Given the description of an element on the screen output the (x, y) to click on. 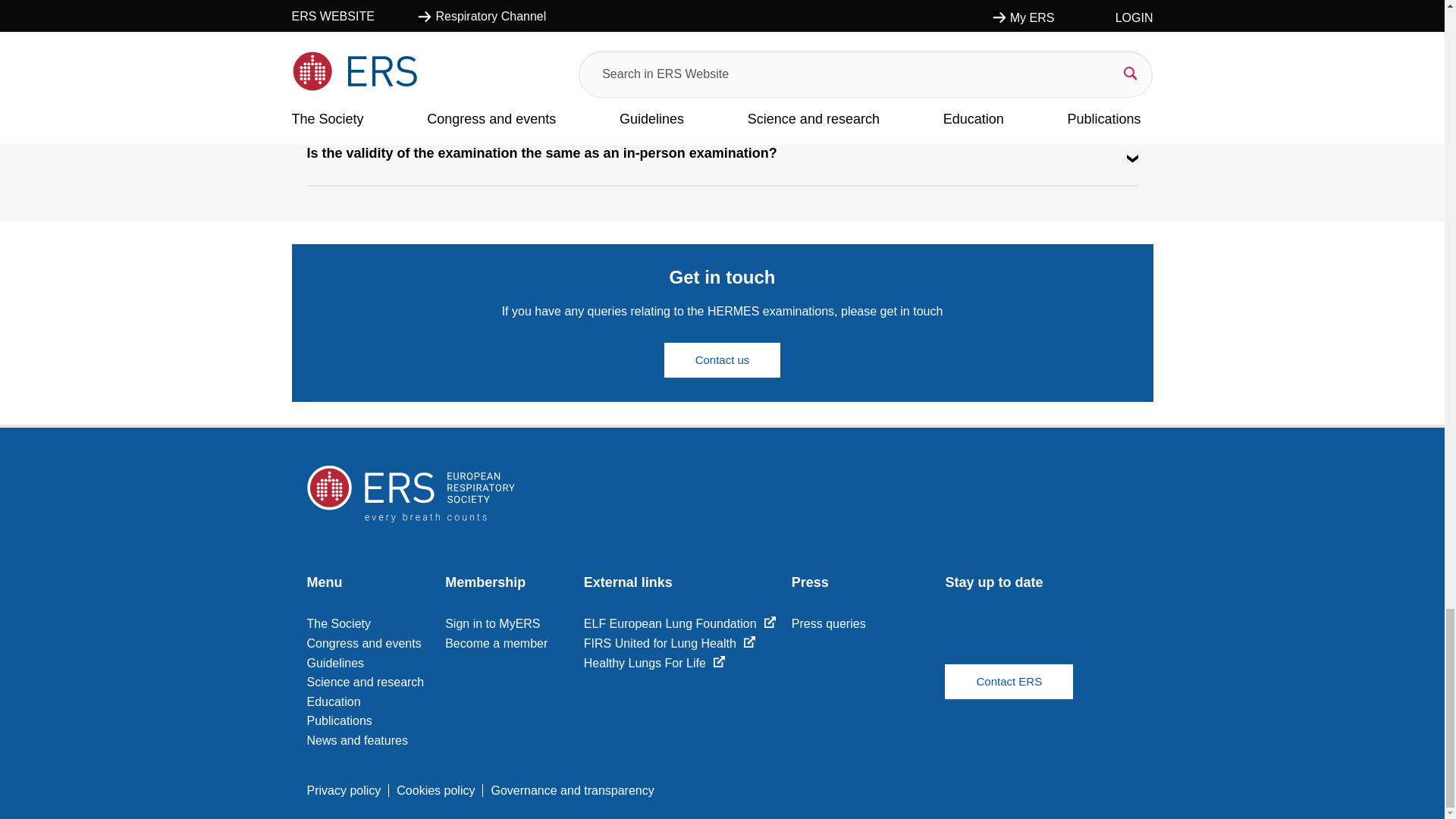
Follow on Facebook (962, 638)
Follow on Instagram (1105, 638)
Follow on YouTube (1010, 638)
Follow on Twitter (1059, 638)
